Given the description of an element on the screen output the (x, y) to click on. 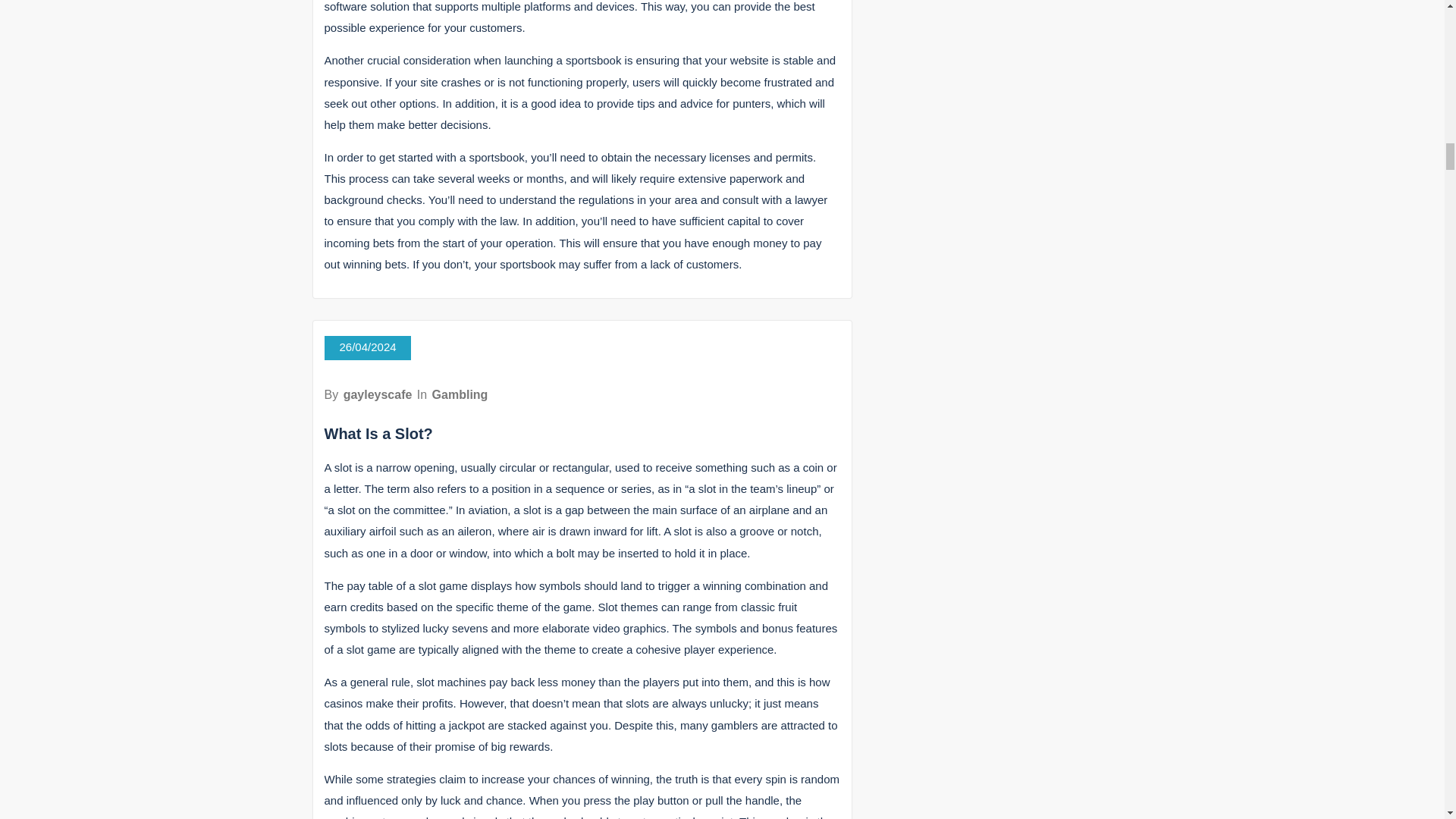
Gambling (459, 394)
gayleyscafe (377, 394)
What Is a Slot? (378, 433)
